Given the description of an element on the screen output the (x, y) to click on. 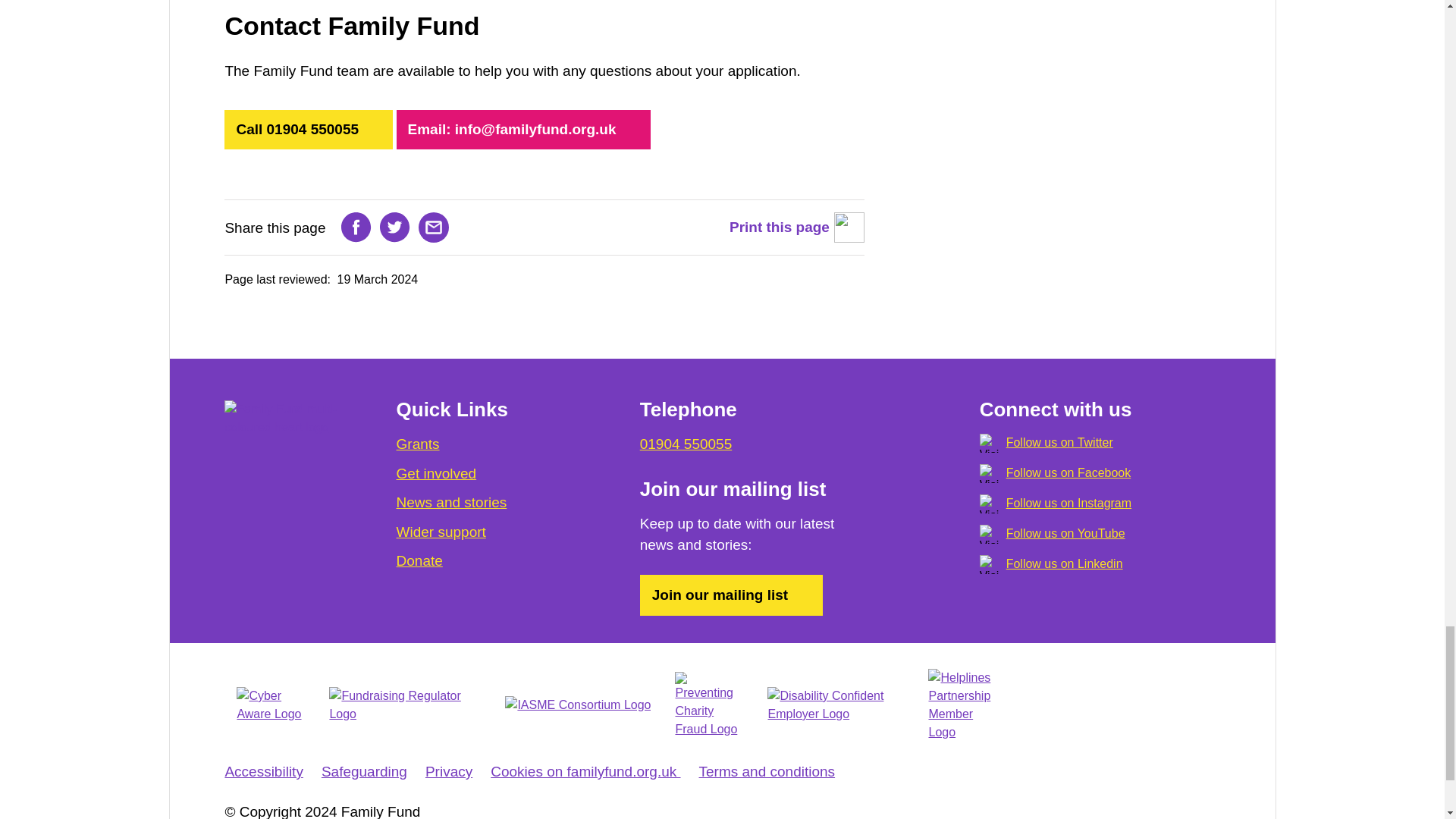
Share on Facebook (355, 227)
Family Fund Homepage (285, 418)
Share via Email (433, 227)
Share on Twitter (395, 227)
